Given the description of an element on the screen output the (x, y) to click on. 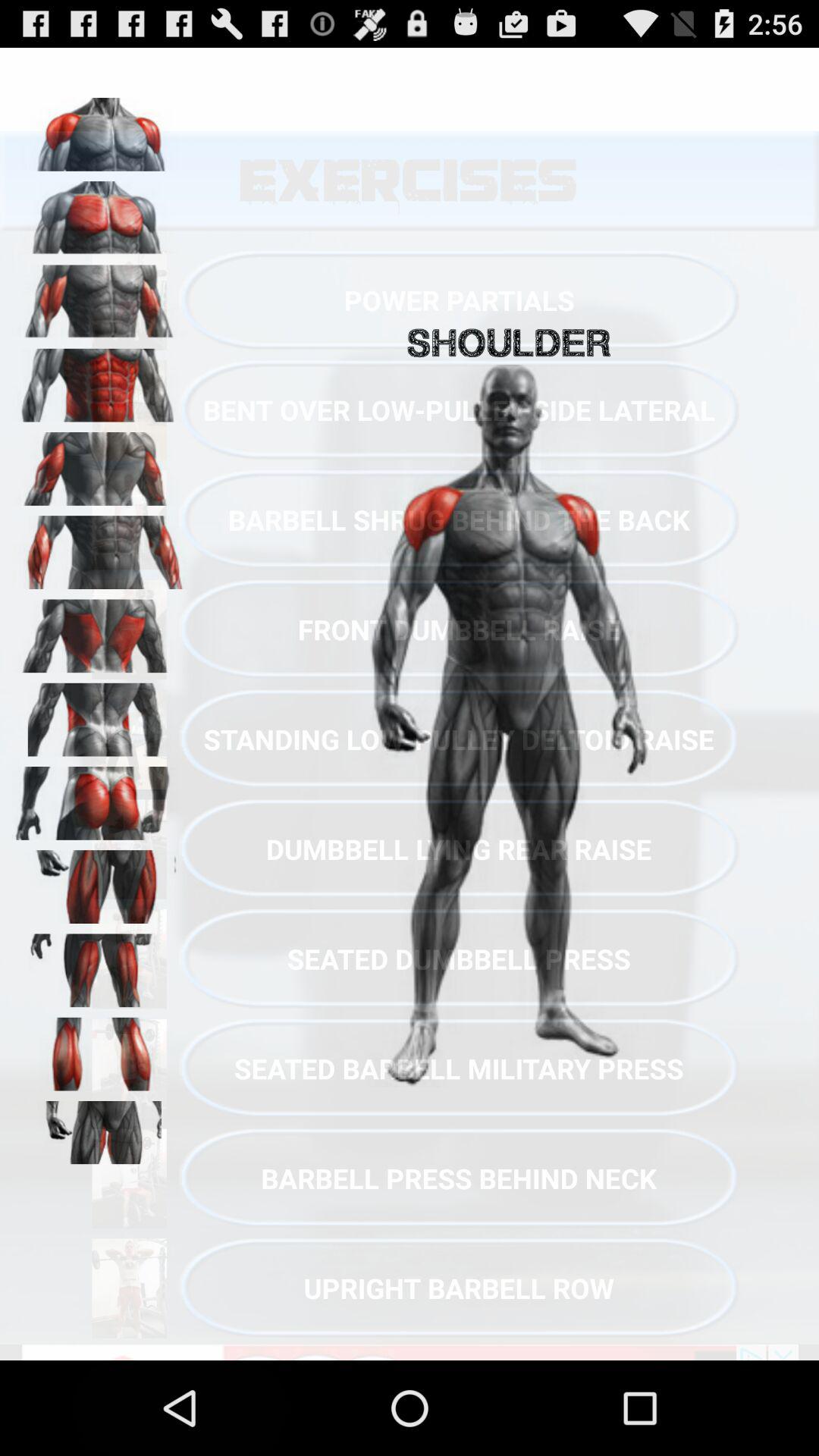
abs (99, 380)
